Given the description of an element on the screen output the (x, y) to click on. 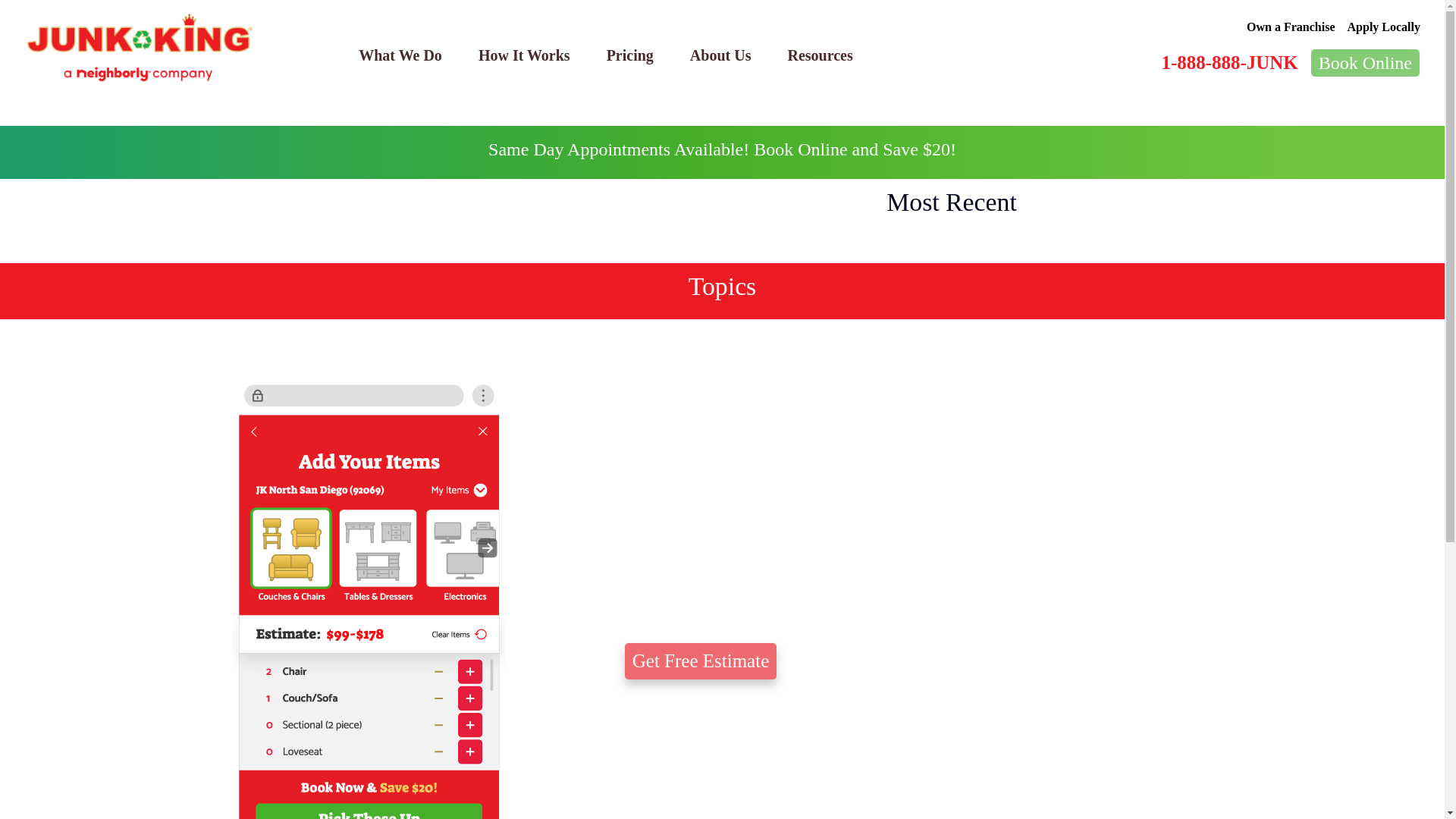
About Us (720, 54)
1-888-888-JUNK (1228, 62)
Own a Franchise (1290, 27)
Blog Content Section (421, 220)
Banner Pane (721, 152)
Book Online (1365, 62)
Junk King (139, 47)
Pricing (629, 54)
How It Works (524, 54)
Apply Locally (1384, 27)
What We Do (400, 54)
Resources (819, 54)
